Given the description of an element on the screen output the (x, y) to click on. 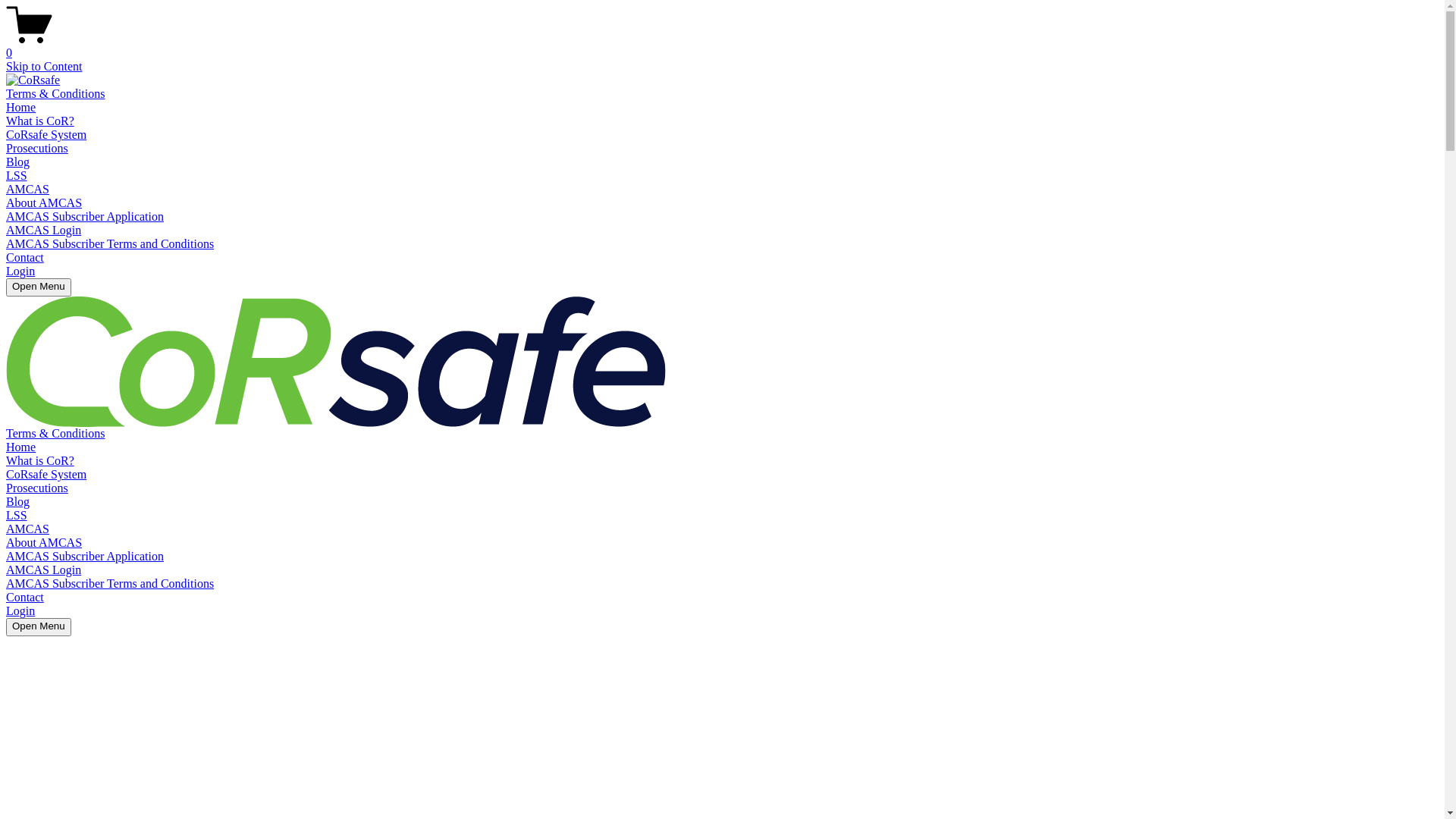
AMCAS Subscriber Terms and Conditions Element type: text (109, 583)
Open Menu Element type: text (38, 287)
Skip to Content Element type: text (43, 65)
What is CoR? Element type: text (40, 460)
AMCAS Subscriber Terms and Conditions Element type: text (109, 243)
LSS Element type: text (16, 175)
Home Element type: text (20, 446)
AMCAS Subscriber Application Element type: text (84, 555)
About AMCAS Element type: text (43, 202)
Prosecutions Element type: text (37, 487)
What is CoR? Element type: text (40, 120)
Login Element type: text (20, 610)
Open Menu Element type: text (38, 627)
AMCAS Login Element type: text (43, 569)
Login Element type: text (20, 270)
AMCAS Element type: text (27, 188)
Contact Element type: text (24, 257)
Home Element type: text (20, 106)
AMCAS Subscriber Application Element type: text (84, 216)
Contact Element type: text (24, 596)
Blog Element type: text (17, 501)
Prosecutions Element type: text (37, 147)
AMCAS Login Element type: text (43, 229)
AMCAS Element type: text (27, 528)
CoRsafe System Element type: text (46, 473)
0 Element type: text (722, 45)
Terms & Conditions Element type: text (55, 432)
Terms & Conditions Element type: text (55, 93)
About AMCAS Element type: text (43, 542)
Blog Element type: text (17, 161)
LSS Element type: text (16, 514)
CoRsafe System Element type: text (46, 134)
